Given the description of an element on the screen output the (x, y) to click on. 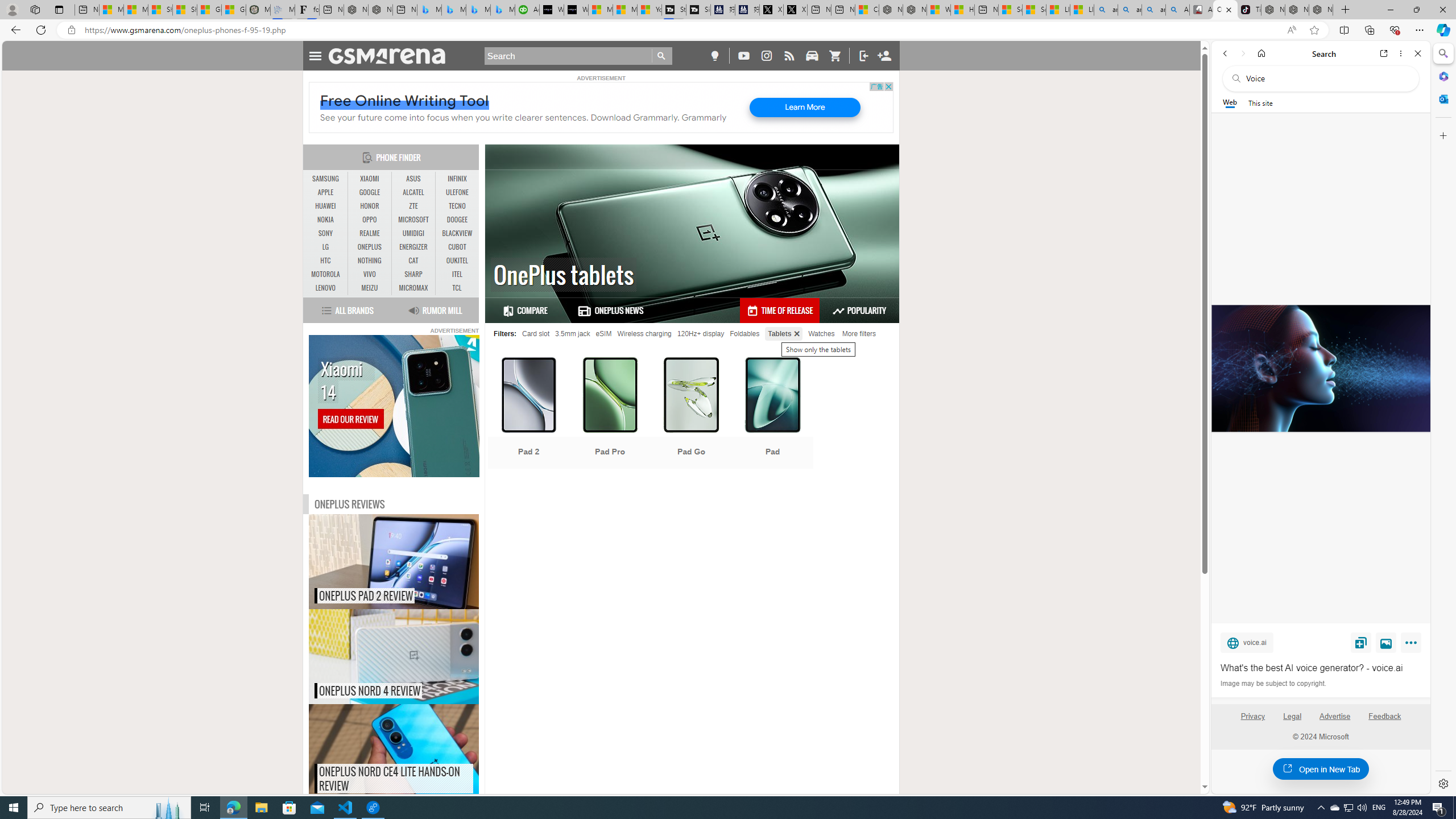
AutomationID: anchor (391, 55)
Side bar (1443, 418)
ULEFONE (457, 192)
Microsoft Bing Travel - Stays in Bangkok, Bangkok, Thailand (453, 9)
MICROSOFT (413, 219)
APPLE (325, 192)
HTC (325, 260)
HTC (325, 260)
VIVO (369, 273)
